Given the description of an element on the screen output the (x, y) to click on. 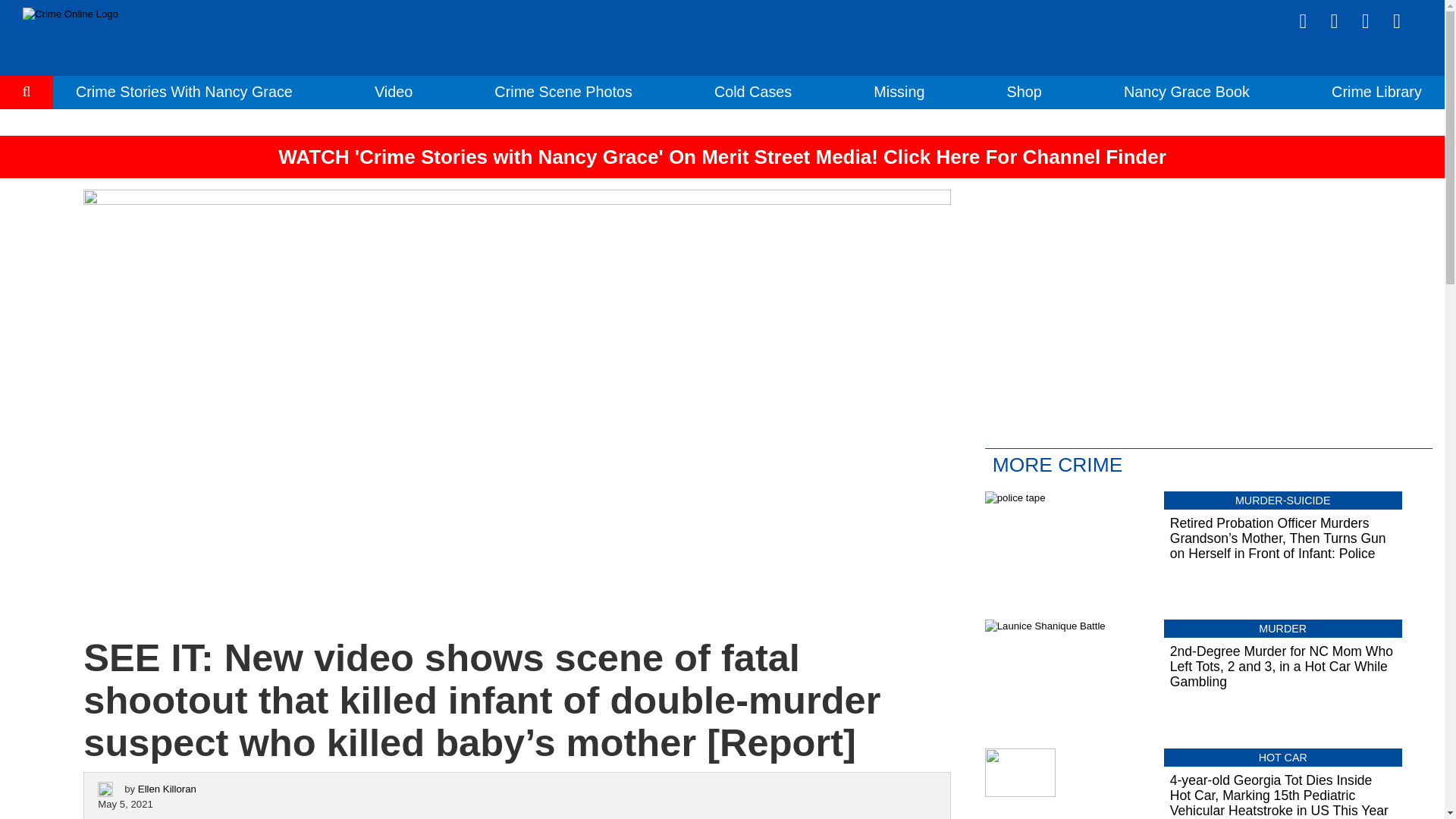
Missing (898, 91)
Crime Library (1377, 91)
Search (27, 138)
Nancy Grace Book (1186, 91)
Crime Stories With Nancy Grace (183, 91)
Ellen Killoran (167, 788)
Shop (1024, 91)
May 5, 2021 (124, 803)
Posts by Ellen Killoran (167, 788)
Video (393, 91)
Cold Cases (753, 91)
Crime Scene Photos (563, 91)
